Given the description of an element on the screen output the (x, y) to click on. 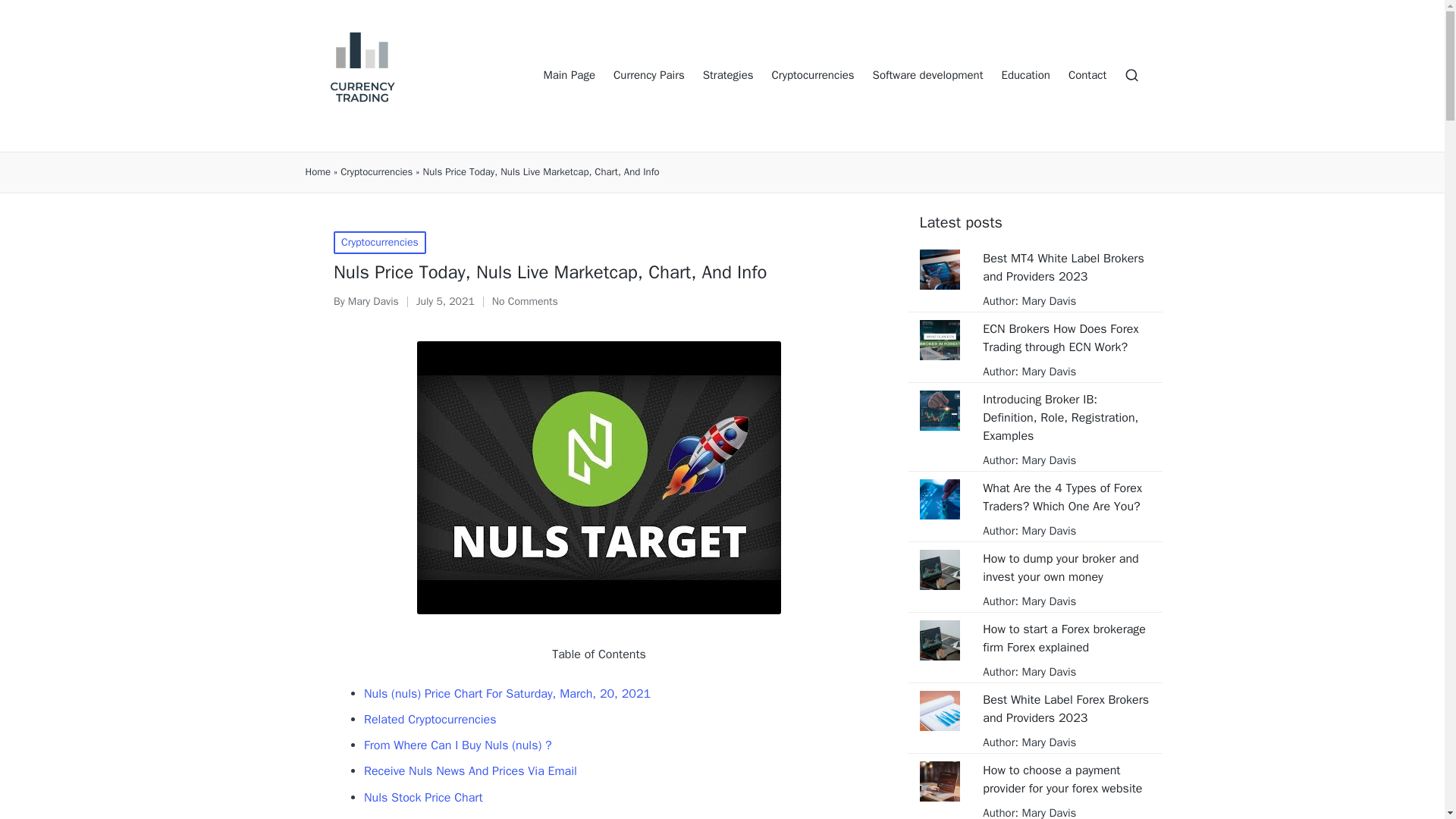
Strategies (728, 75)
Home (317, 171)
Mary Davis (1046, 459)
View all posts by Mary Davis (372, 300)
No Comments (524, 301)
Best MT4 White Label Brokers and Providers 2023 (1066, 267)
Contact (1087, 75)
Education (1025, 75)
Cryptocurrencies (812, 75)
ECN Brokers How Does Forex Trading through ECN Work? (1066, 338)
Software development (928, 75)
Mary Davis (1046, 300)
Main Page (569, 75)
Nulsnuls (387, 817)
